Given the description of an element on the screen output the (x, y) to click on. 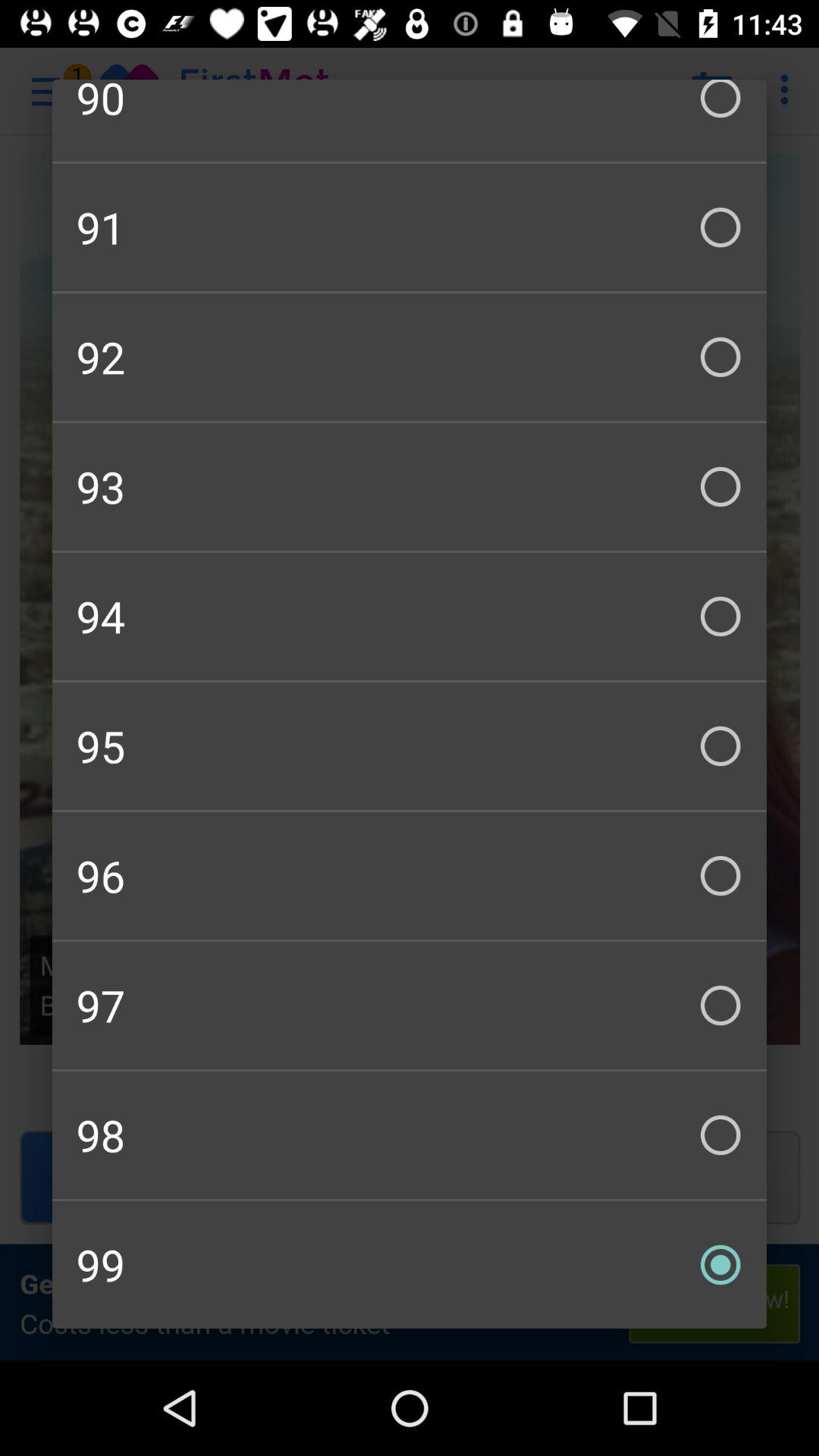
press the 99 checkbox (409, 1264)
